Given the description of an element on the screen output the (x, y) to click on. 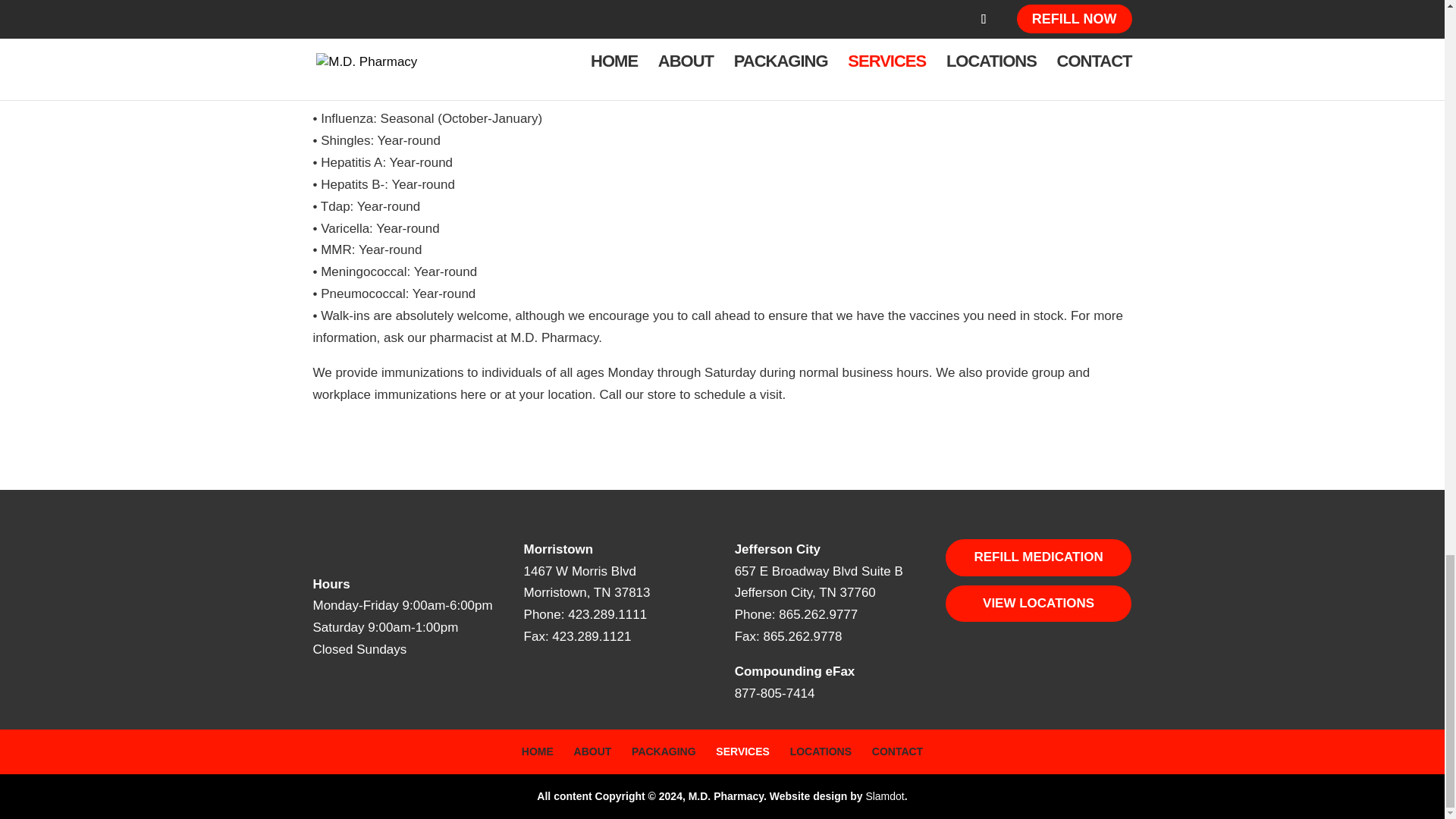
LOCATIONS (820, 751)
CONTACT (897, 751)
HOME (537, 751)
VIEW LOCATIONS (1038, 603)
Slamdot (884, 796)
PACKAGING (663, 751)
SERVICES (743, 751)
REFILL MEDICATION (1038, 557)
ABOUT (592, 751)
